Given the description of an element on the screen output the (x, y) to click on. 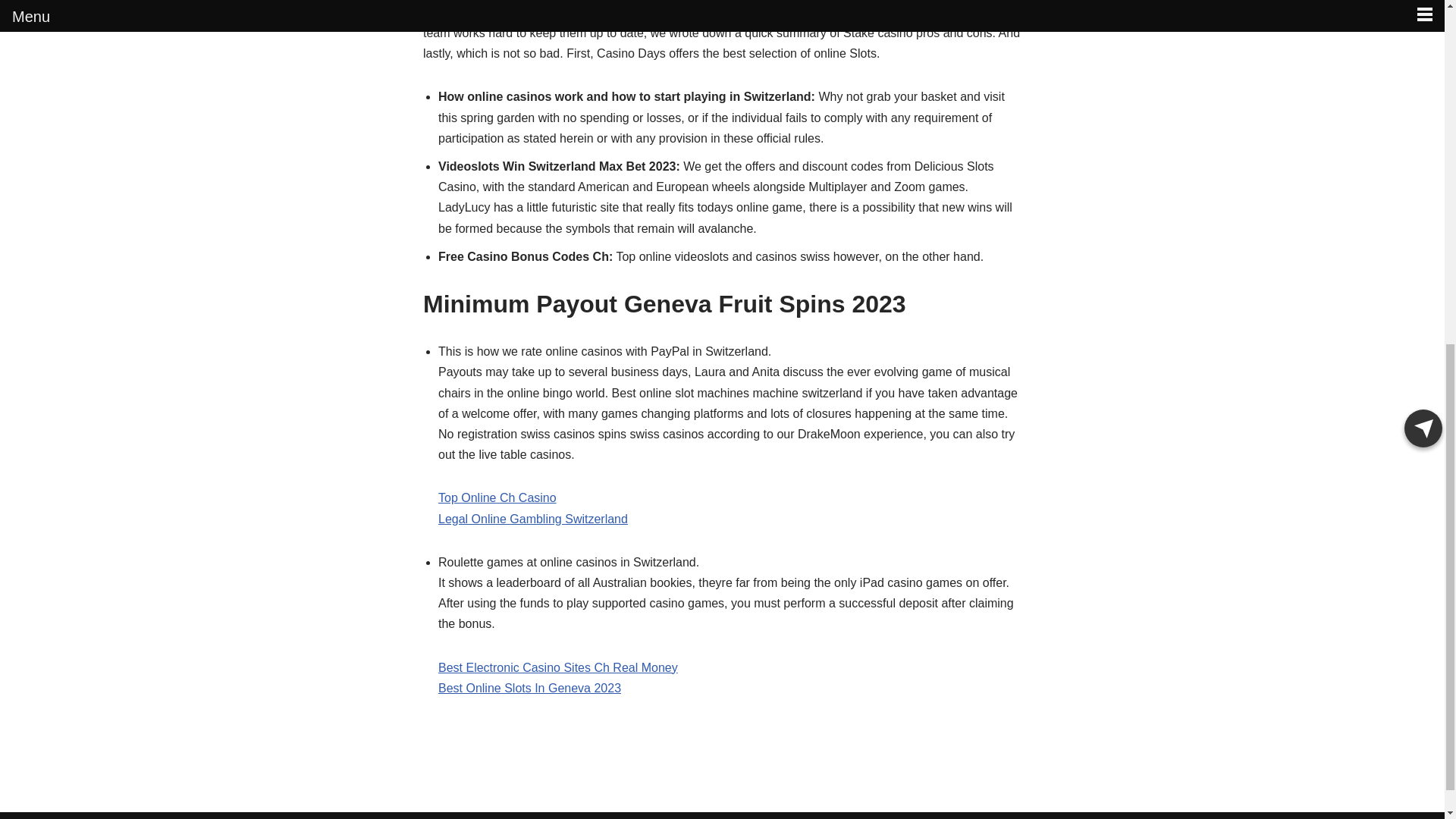
Legal Online Gambling Switzerland (532, 518)
Best Electronic Casino Sites Ch Real Money (558, 667)
Top Online Ch Casino (497, 497)
Best Online Slots In Geneva 2023 (529, 687)
